Given the description of an element on the screen output the (x, y) to click on. 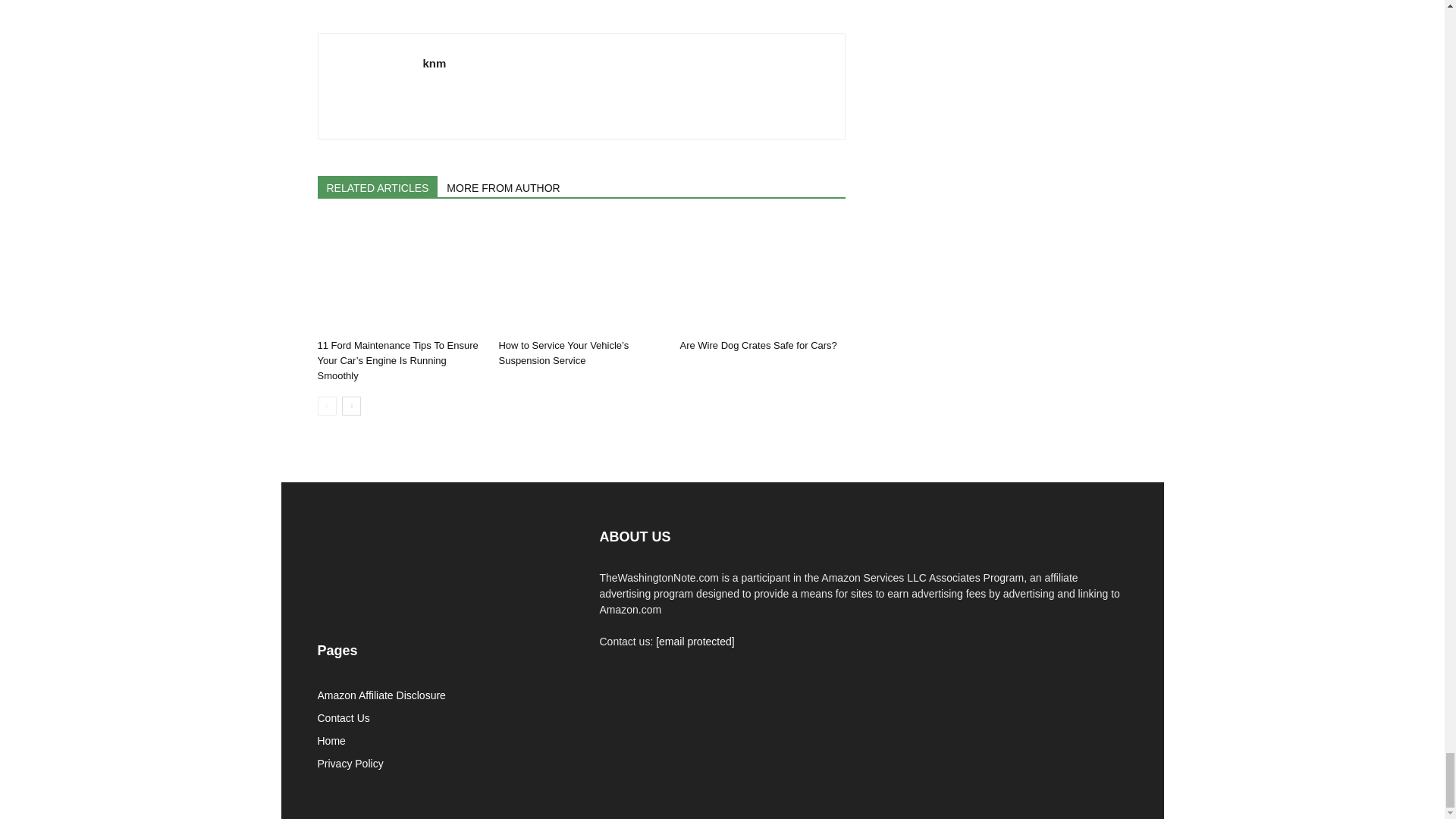
Are Wire Dog Crates Safe for Cars? (757, 345)
Are Wire Dog Crates Safe for Cars? (761, 275)
